Given the description of an element on the screen output the (x, y) to click on. 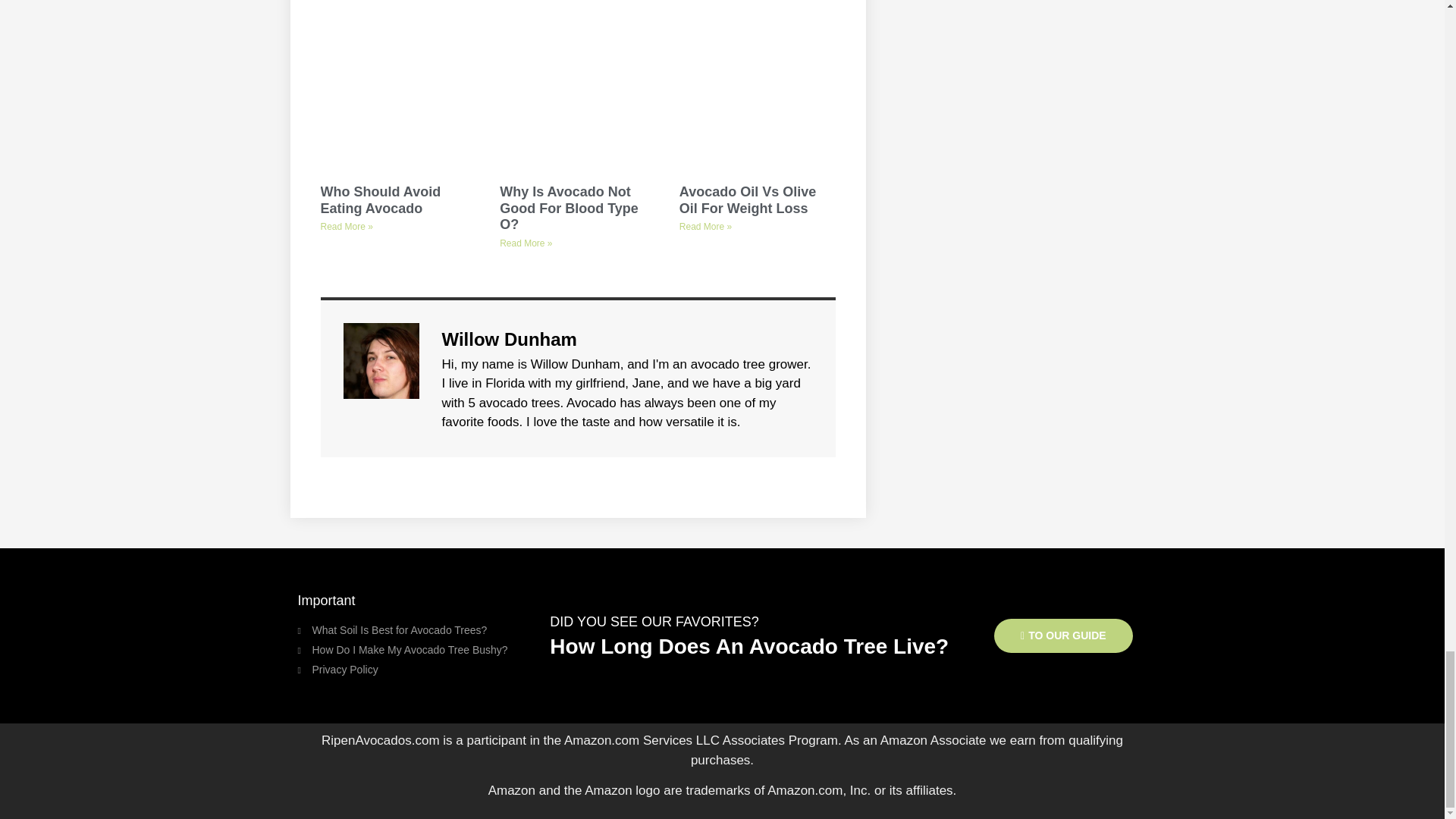
Avocado Oil Vs Olive Oil For Weight Loss (747, 200)
Why Is Avocado Not Good For Blood Type O? (569, 207)
Who Should Avoid Eating Avocado (380, 200)
